Given the description of an element on the screen output the (x, y) to click on. 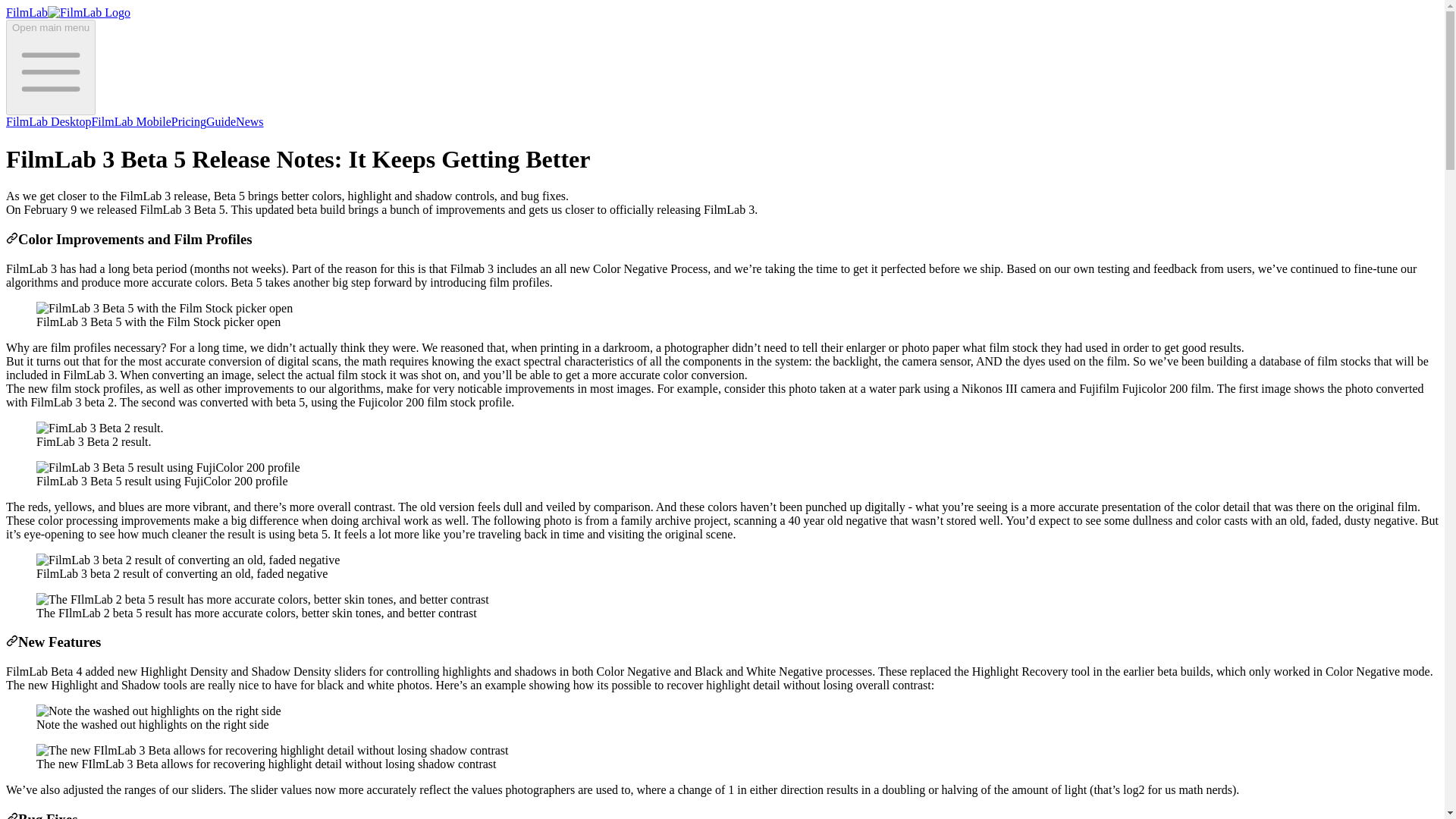
FilmLab Desktop (47, 121)
FilmLab (68, 11)
Pricing (188, 121)
Color Improvements and Film Profiles (11, 238)
Bug Fixes (11, 815)
New Features (11, 641)
News (249, 121)
Open main menu (50, 67)
Guide (220, 121)
FilmLab Mobile (130, 121)
